Given the description of an element on the screen output the (x, y) to click on. 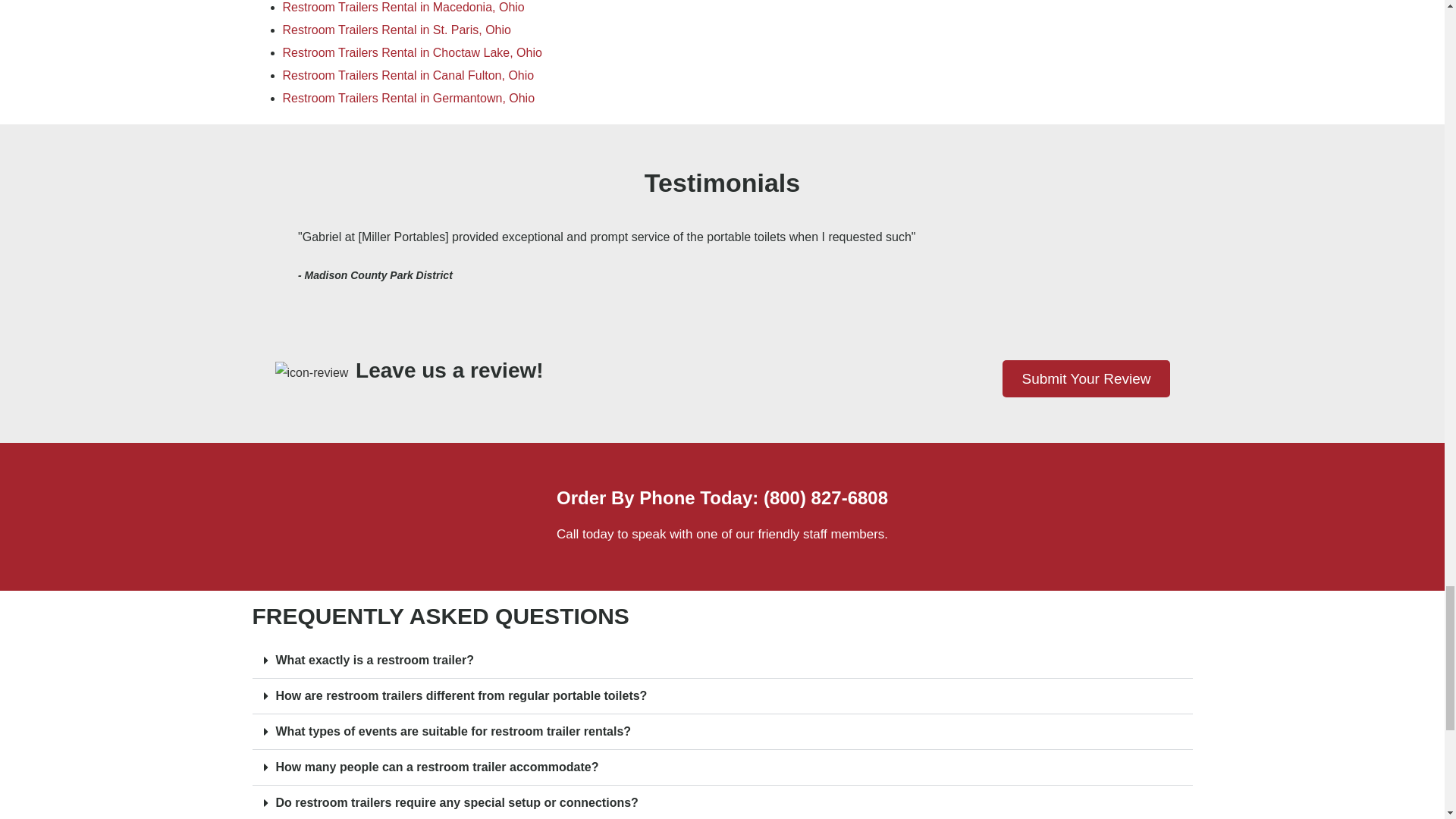
Restroom Trailers Rental in Canal Fulton, Ohio (408, 74)
Restroom Trailers Rental in Choctaw Lake, Ohio (411, 51)
Restroom Trailers Rental in Germantown, Ohio (408, 97)
Restroom Trailers Rental in St. Paris, Ohio (396, 29)
icon-review (315, 372)
Restroom Trailers Rental in Macedonia, Ohio (403, 6)
